Given the description of an element on the screen output the (x, y) to click on. 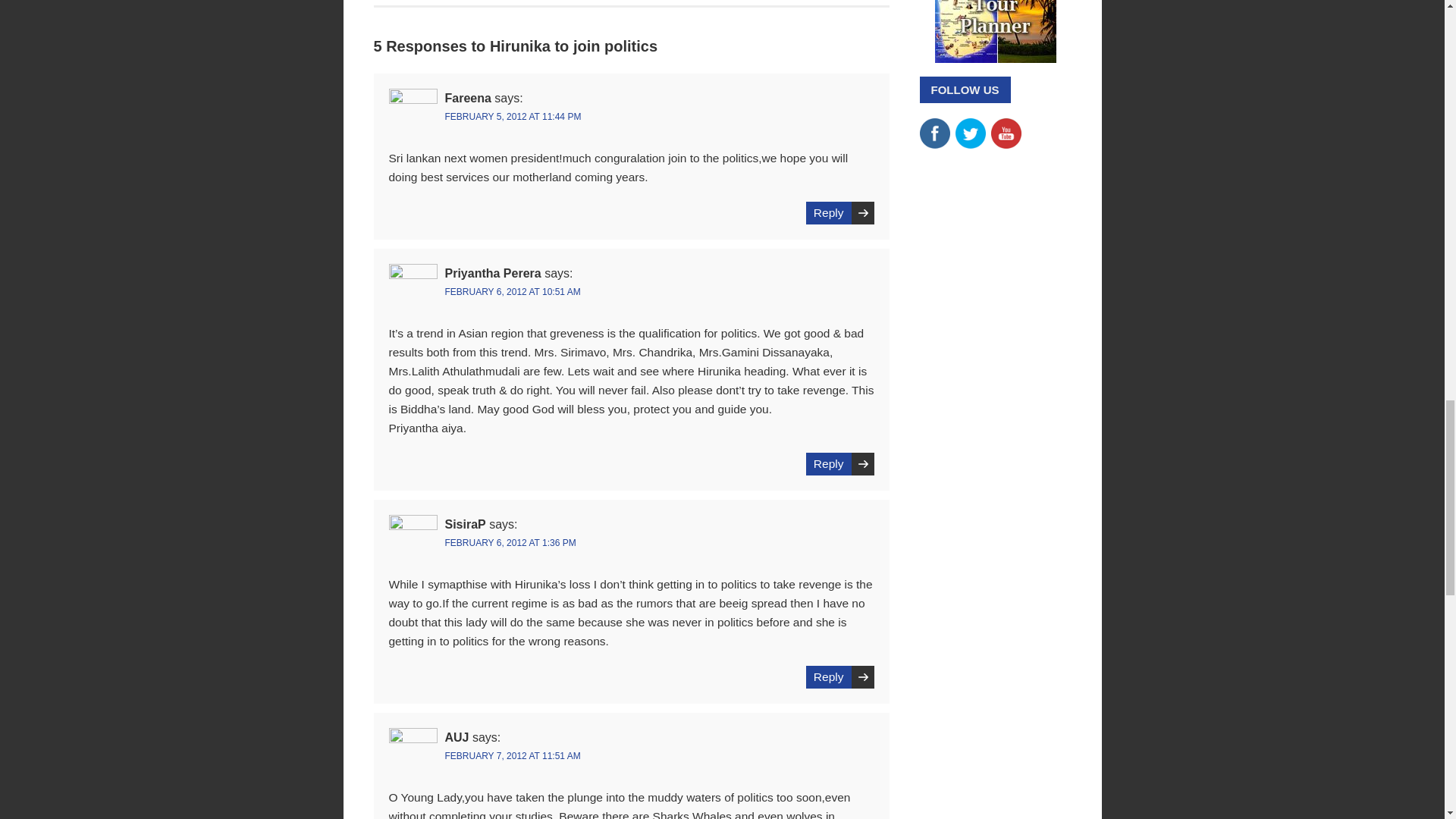
FEBRUARY 7, 2012 AT 11:51 AM (511, 756)
FEBRUARY 6, 2012 AT 10:51 AM (511, 291)
FEBRUARY 5, 2012 AT 11:44 PM (512, 116)
Onlanka YouTube channel (1005, 124)
Onlanka Facebook page (933, 124)
Onlanka Twitter profile (970, 124)
FEBRUARY 6, 2012 AT 1:36 PM (509, 542)
